Given the description of an element on the screen output the (x, y) to click on. 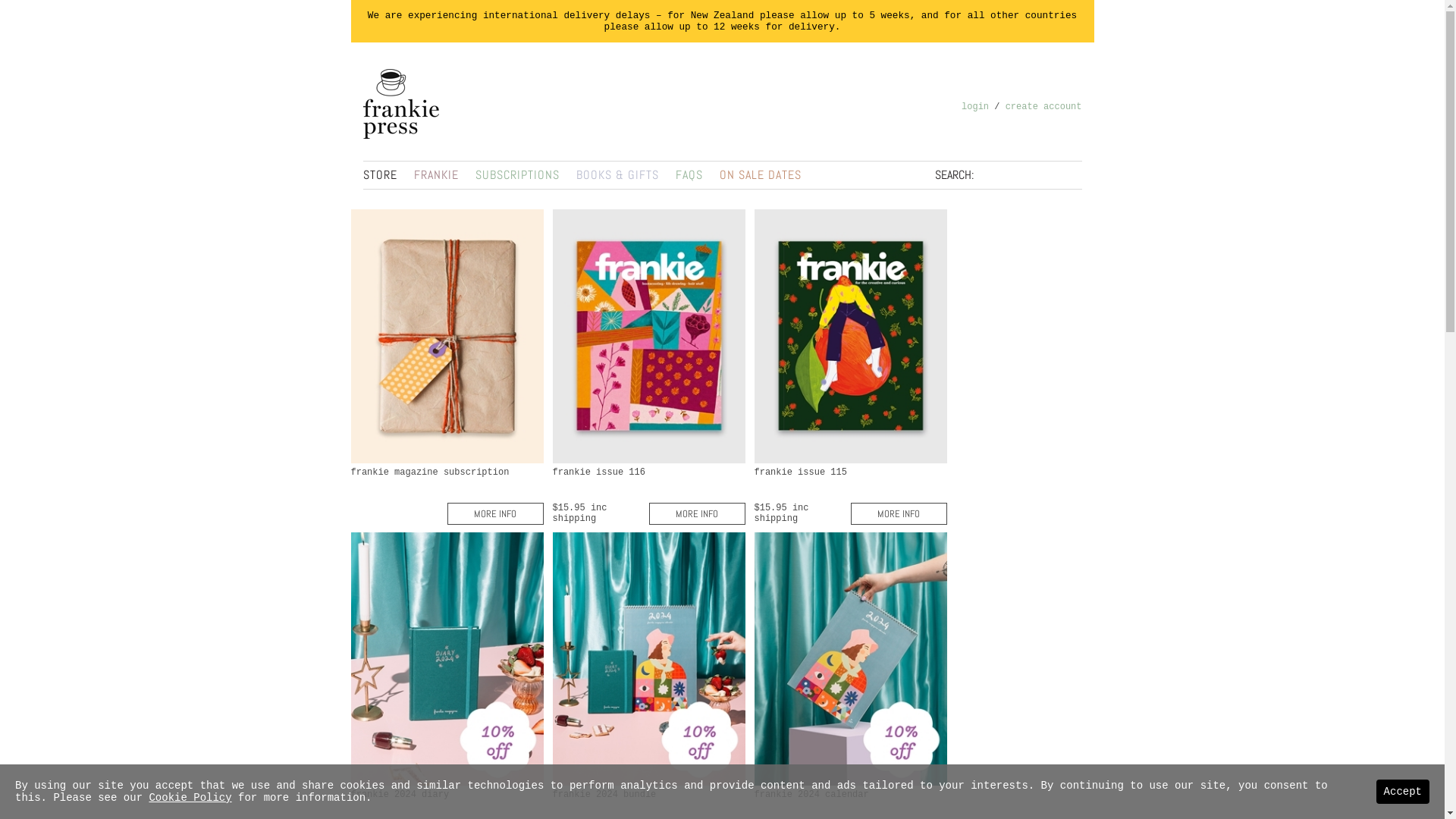
login Element type: text (974, 106)
frankie 2024 calendar Element type: hover (849, 658)
BOOKS & GIFTS Element type: text (617, 174)
frankie magazine subscription Element type: hover (446, 335)
frankie press Element type: hover (402, 107)
create account Element type: text (1043, 106)
ON SALE DATES Element type: text (759, 174)
frankie issue 115 Element type: hover (849, 335)
frankie 2024 diary Element type: hover (446, 658)
SUBSCRIPTIONS Element type: text (516, 174)
MORE INFO Element type: text (898, 513)
MORE INFO Element type: text (697, 513)
FAQS Element type: text (688, 174)
MORE INFO Element type: text (495, 513)
Accept Element type: text (1402, 791)
frankie 2024 bundle Element type: hover (648, 658)
FRANKIE Element type: text (436, 174)
frankie issue 116 Element type: hover (648, 335)
STORE Element type: text (379, 174)
Cookie Policy Element type: text (189, 797)
